Given the description of an element on the screen output the (x, y) to click on. 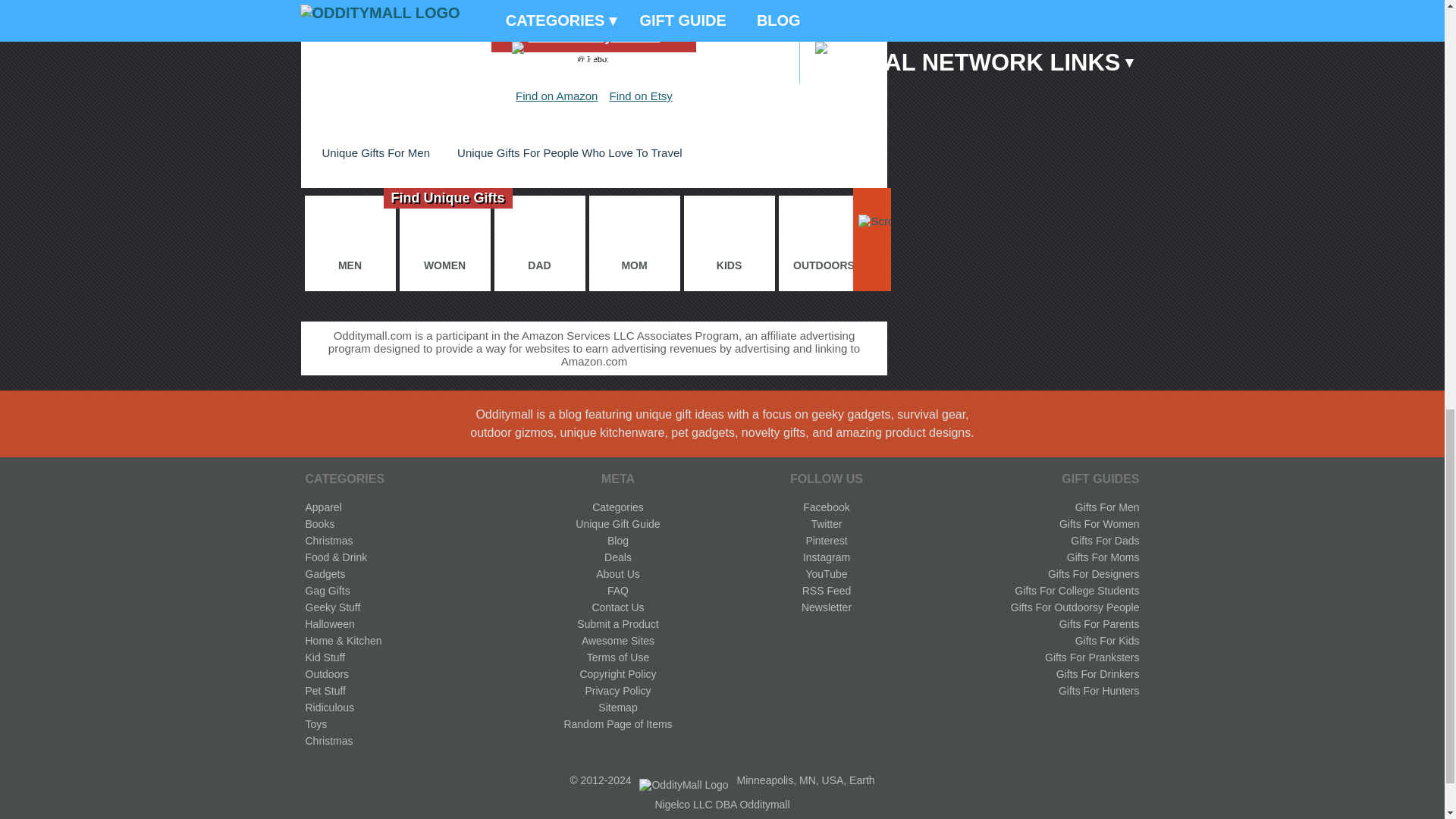
Unique Gifts For Men (375, 152)
Unique Gifts For Men (375, 152)
Unique Gifts For People Who Love To Travel (569, 152)
Find on Etsy (639, 95)
Check Today's Price (593, 36)
Find on Amazon (555, 95)
Unique Gifts For People Who Love To Travel (569, 152)
